Given the description of an element on the screen output the (x, y) to click on. 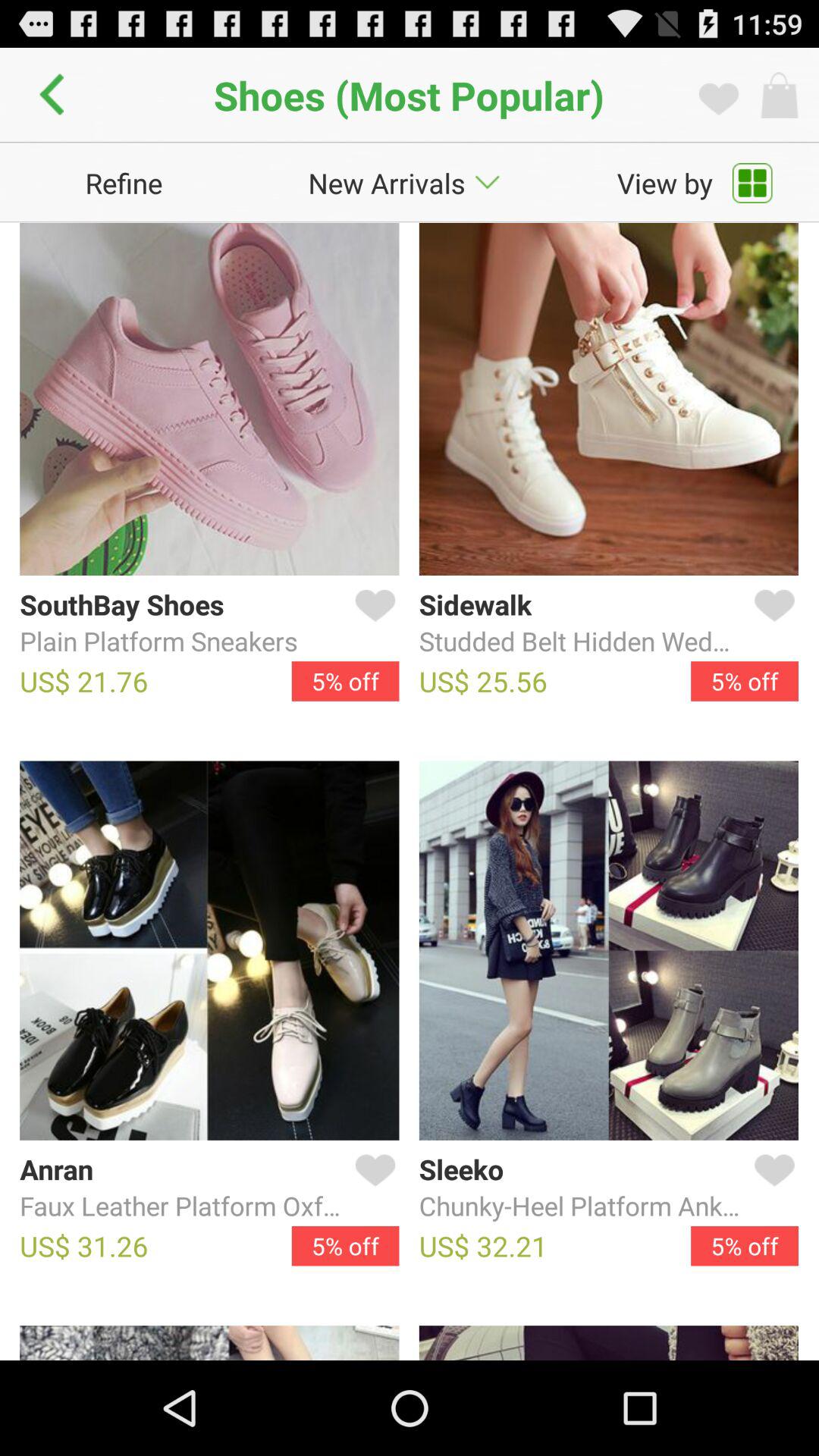
add to favorites (372, 1188)
